Given the description of an element on the screen output the (x, y) to click on. 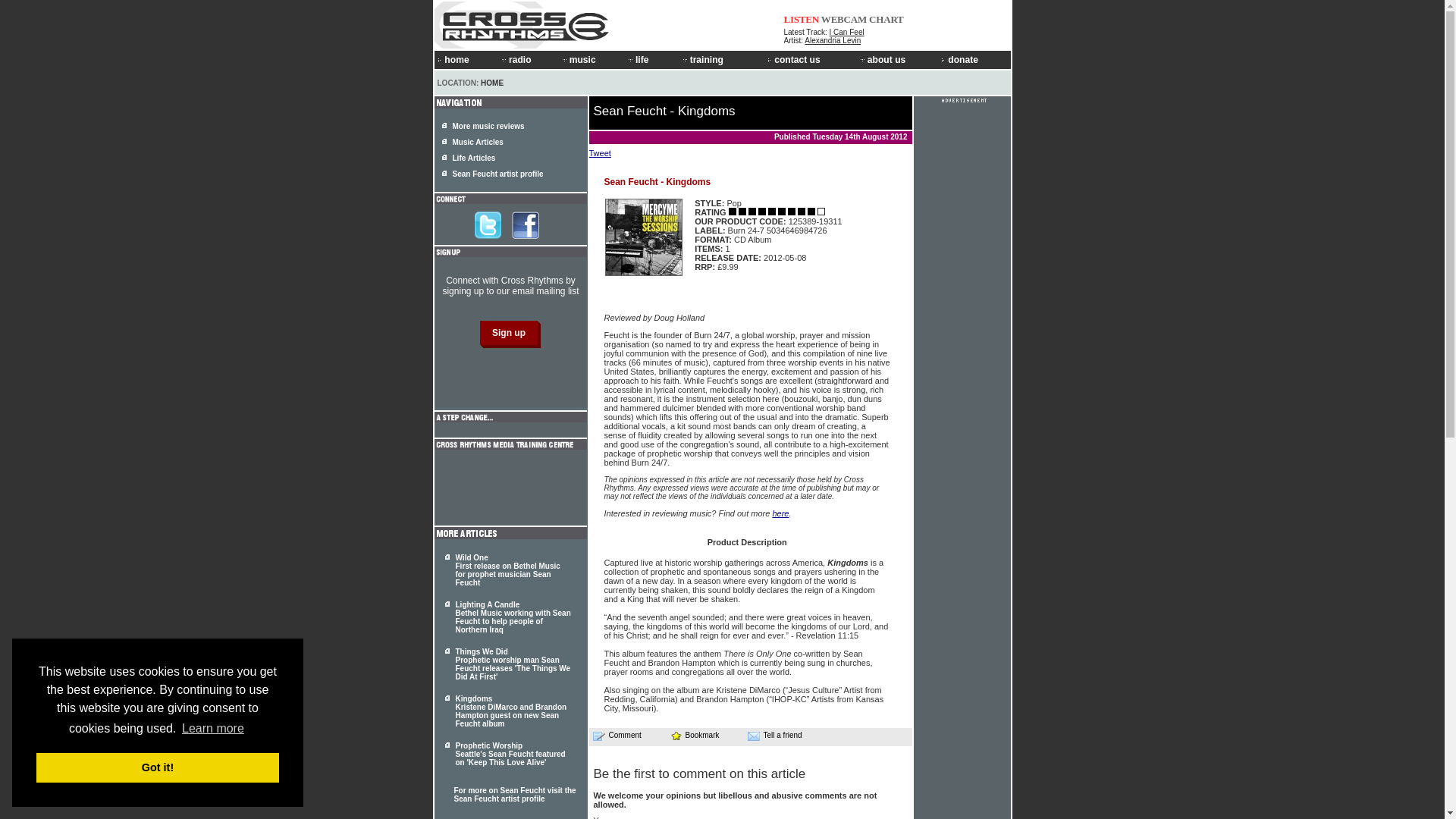
9 (801, 211)
radio (528, 59)
9 (790, 211)
9 (811, 211)
LISTEN (801, 19)
contact us (811, 59)
9 (820, 211)
life (651, 59)
WEBCAM (843, 19)
9 (732, 211)
home (466, 59)
9 (761, 211)
Got it! (157, 767)
CHART (886, 19)
9 (772, 211)
